Given the description of an element on the screen output the (x, y) to click on. 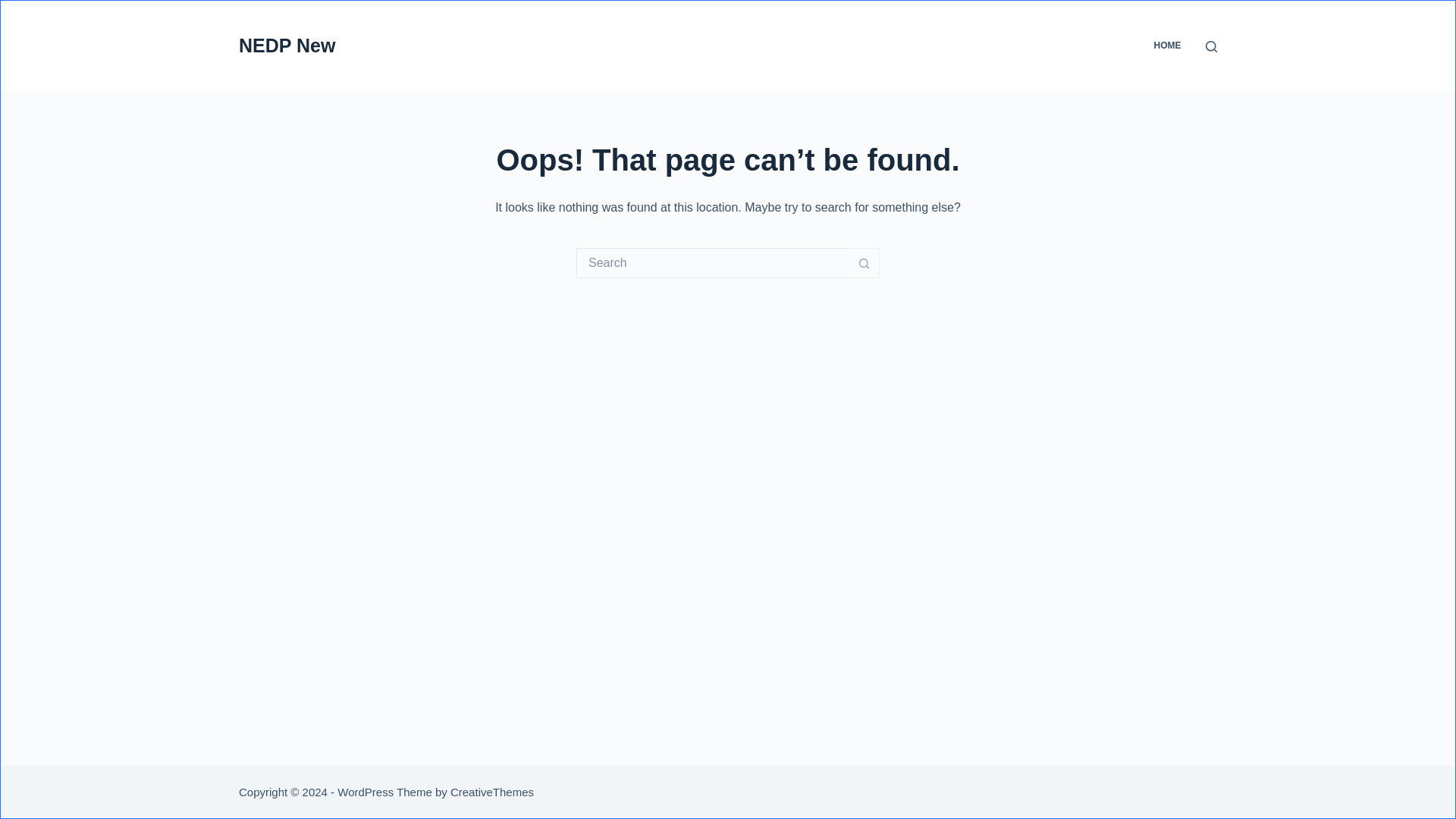
Skip to content (15, 7)
NEDP New (286, 45)
Search for... (712, 263)
CreativeThemes (491, 791)
